Given the description of an element on the screen output the (x, y) to click on. 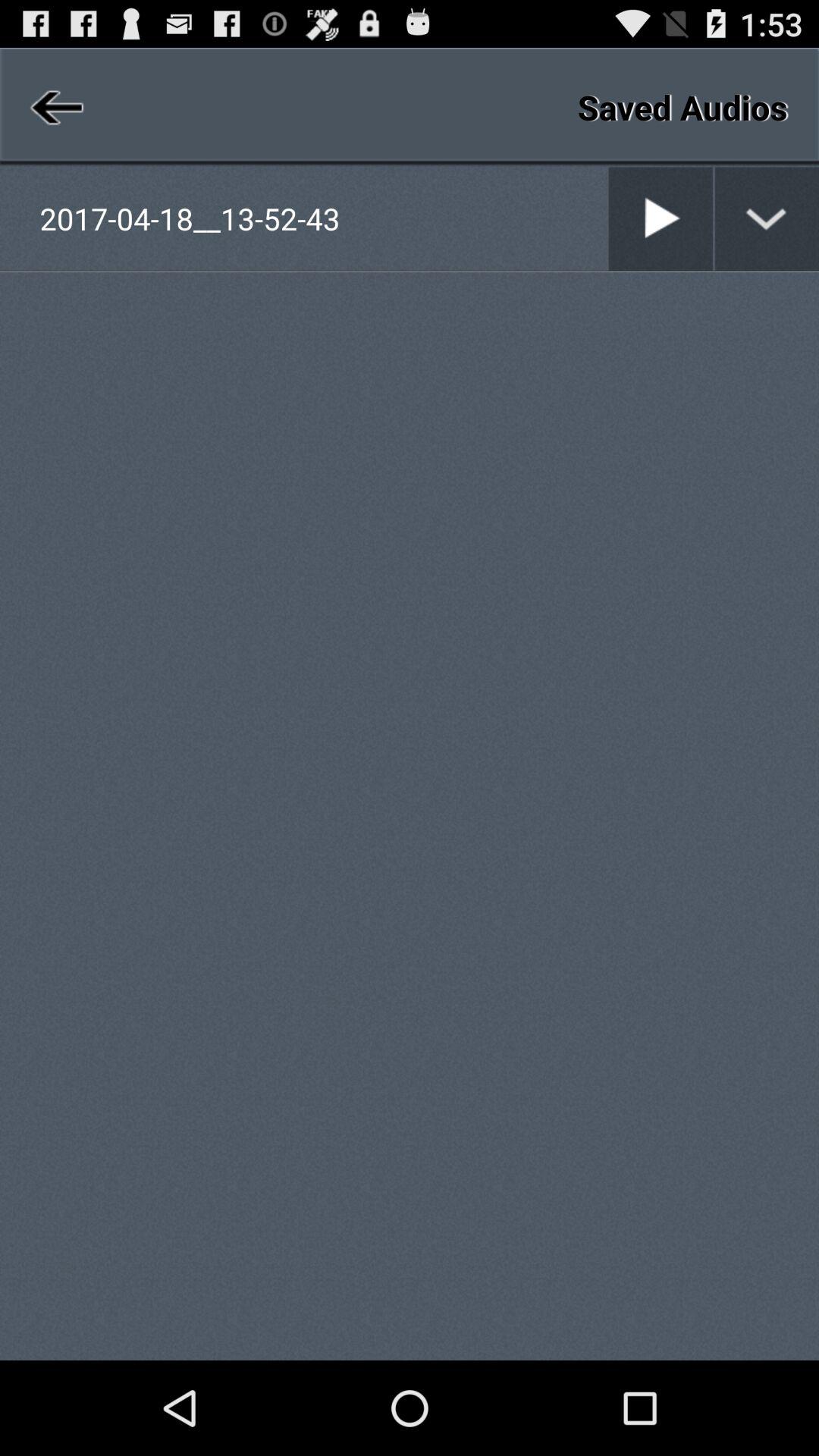
go to previous (54, 107)
